Given the description of an element on the screen output the (x, y) to click on. 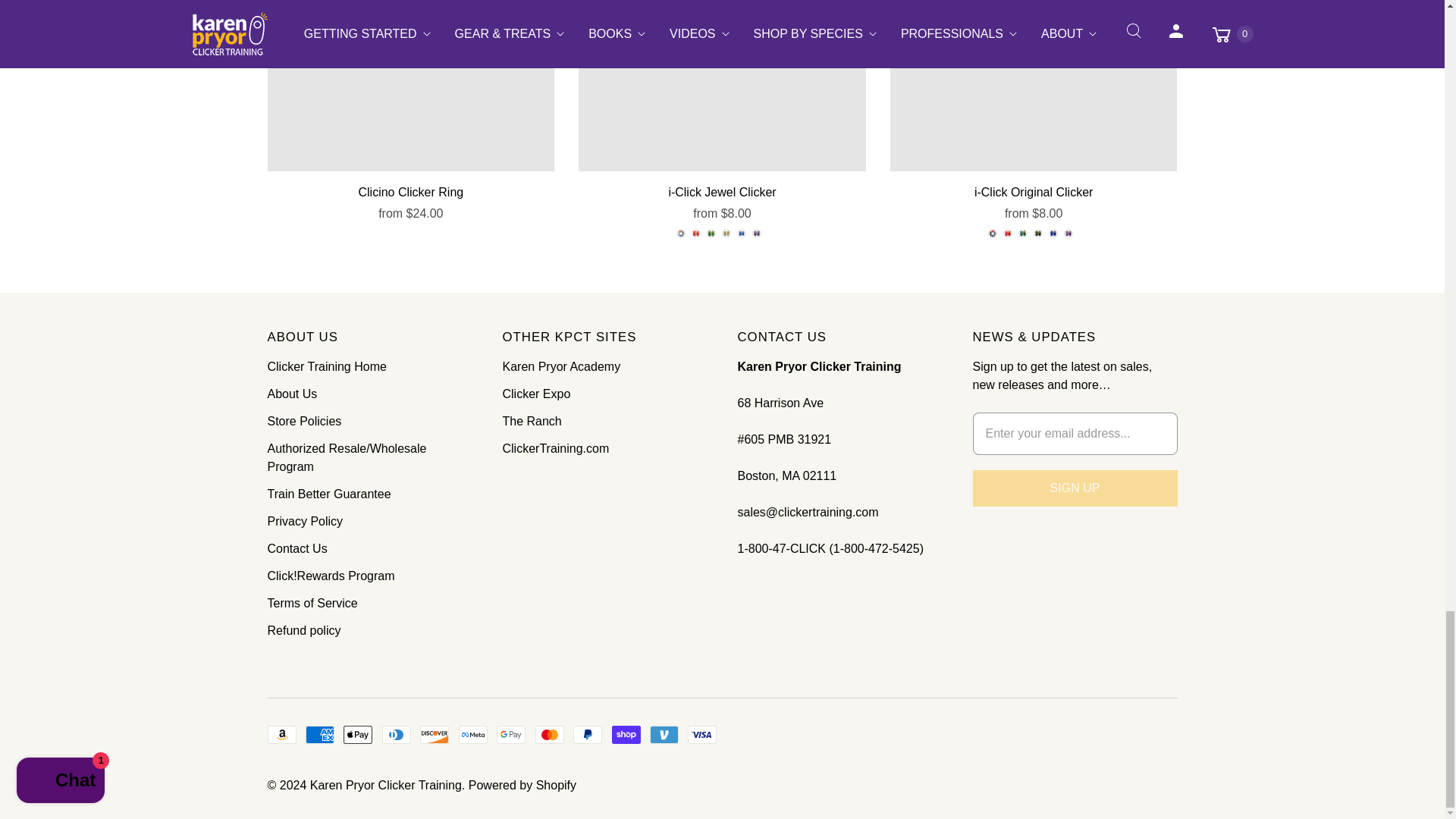
Amazon (280, 734)
Apple Pay (357, 734)
American Express (319, 734)
Sign Up (1074, 488)
